Given the description of an element on the screen output the (x, y) to click on. 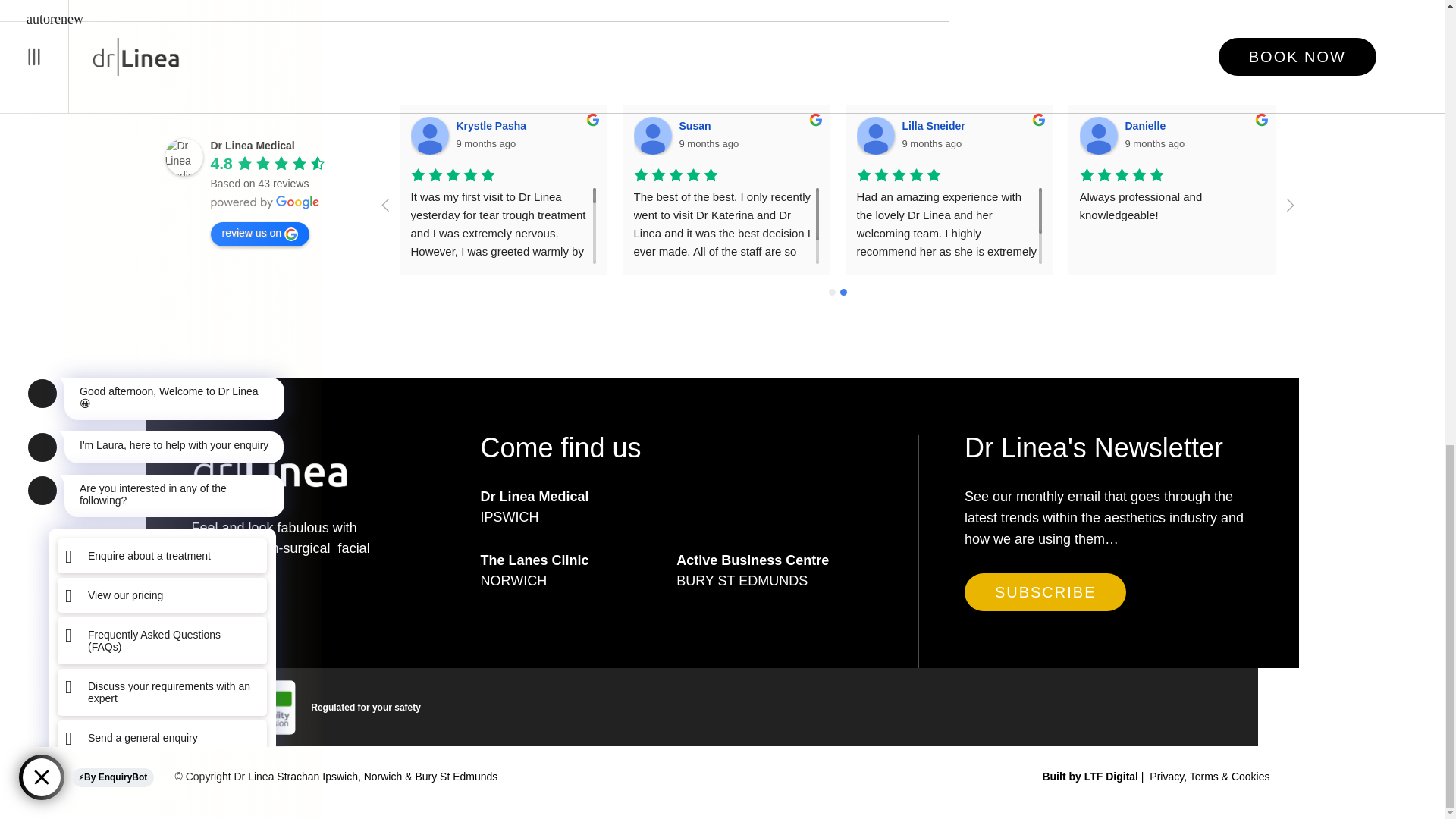
Lilla Sneider (935, 125)
SUBSCRIBE (1044, 591)
Dr Linea Medical (253, 145)
review us on (260, 233)
Susan (697, 125)
Danielle (1099, 135)
LTF Digital (1111, 776)
Lilla Sneider (876, 135)
Krystle Pasha (429, 135)
Danielle (1147, 125)
A S (1321, 135)
Dr Linea Medical (184, 157)
powered by Google (265, 202)
Krystle Pasha (494, 125)
A S (1359, 125)
